Given the description of an element on the screen output the (x, y) to click on. 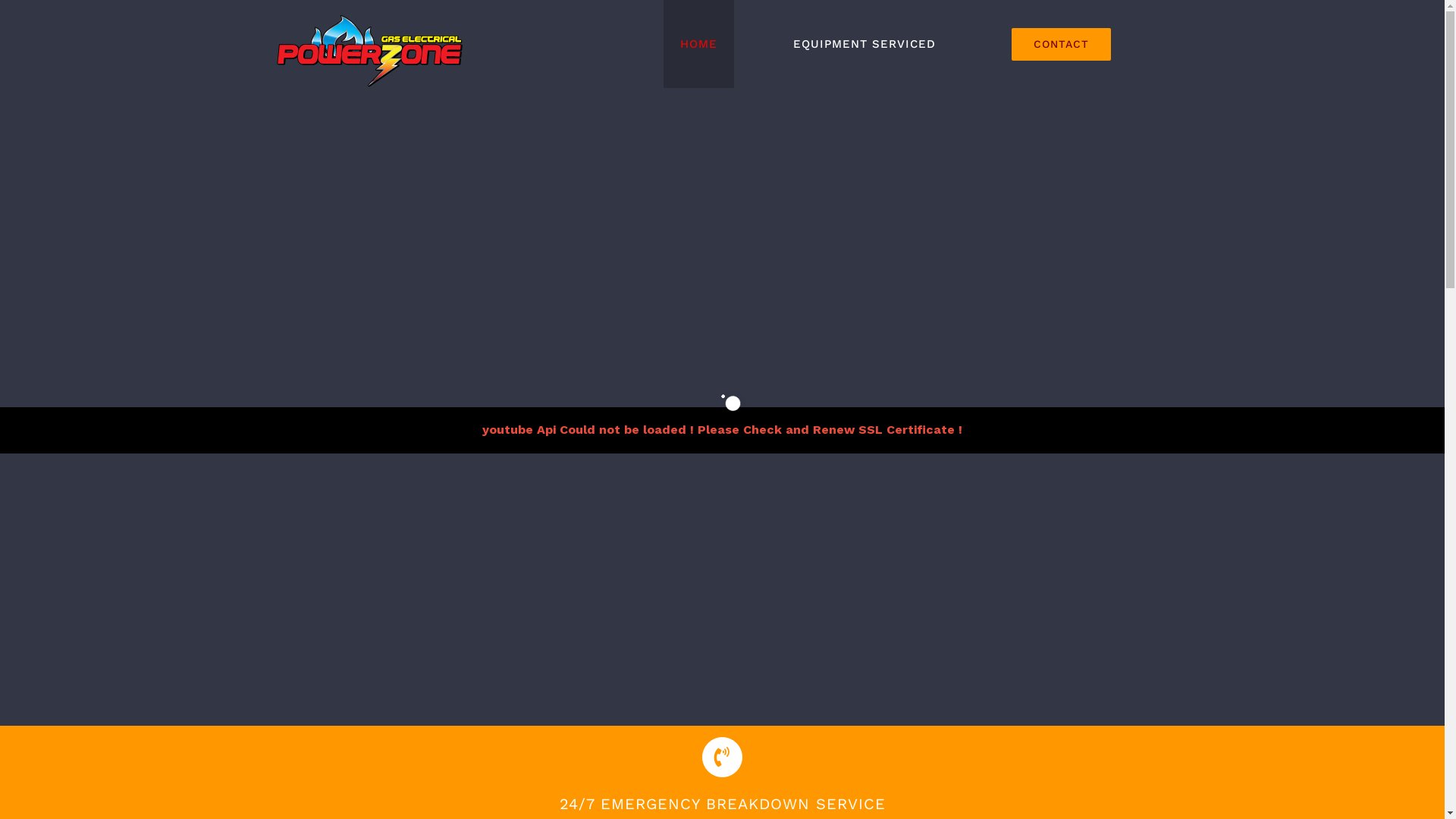
EQUIPMENT SERVICED Element type: text (864, 43)
CONTACT Element type: text (1060, 43)
HOME Element type: text (697, 43)
